Given the description of an element on the screen output the (x, y) to click on. 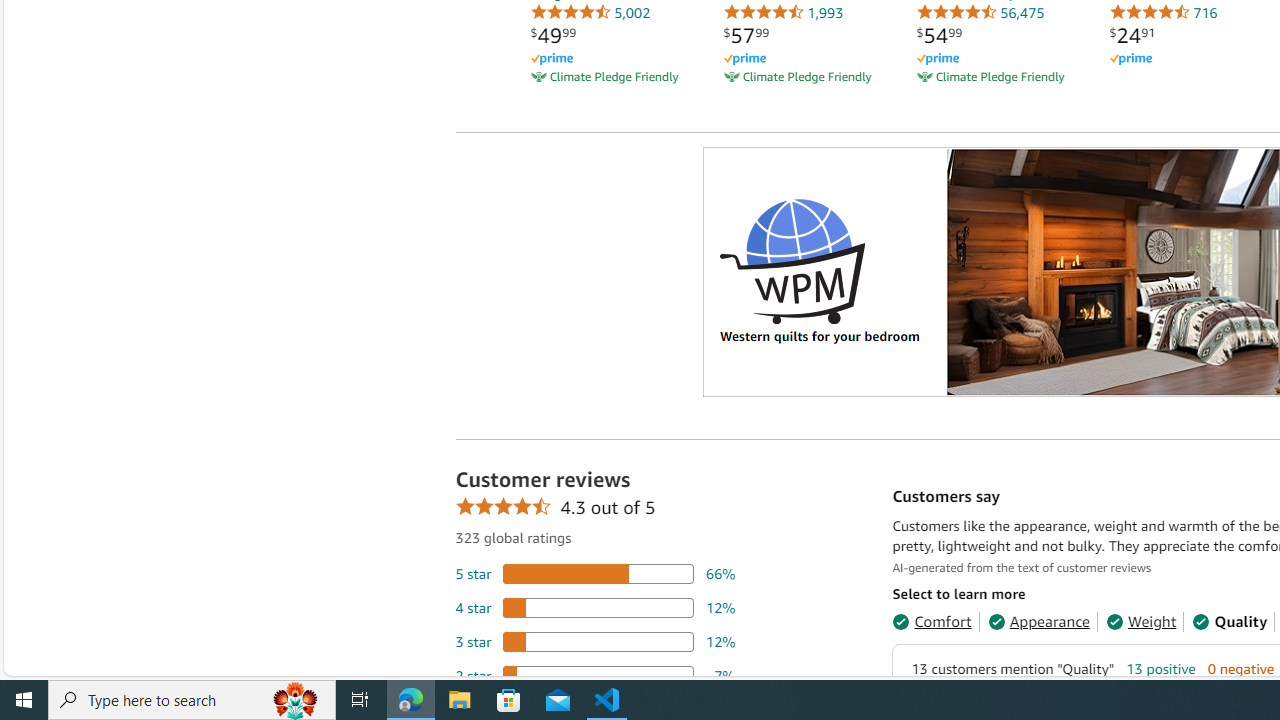
7 percent of reviews have 2 stars (595, 675)
Quality (1229, 621)
5,002 (590, 12)
12 percent of reviews have 3 stars (595, 641)
56,475 (980, 12)
Weight (1140, 621)
Comfort (931, 621)
$57.99 (746, 35)
$54.99 (939, 35)
Amazon Prime (1130, 59)
Appearance (1038, 621)
1,993 (783, 12)
716 (1163, 12)
Amazon Prime (1188, 58)
